Given the description of an element on the screen output the (x, y) to click on. 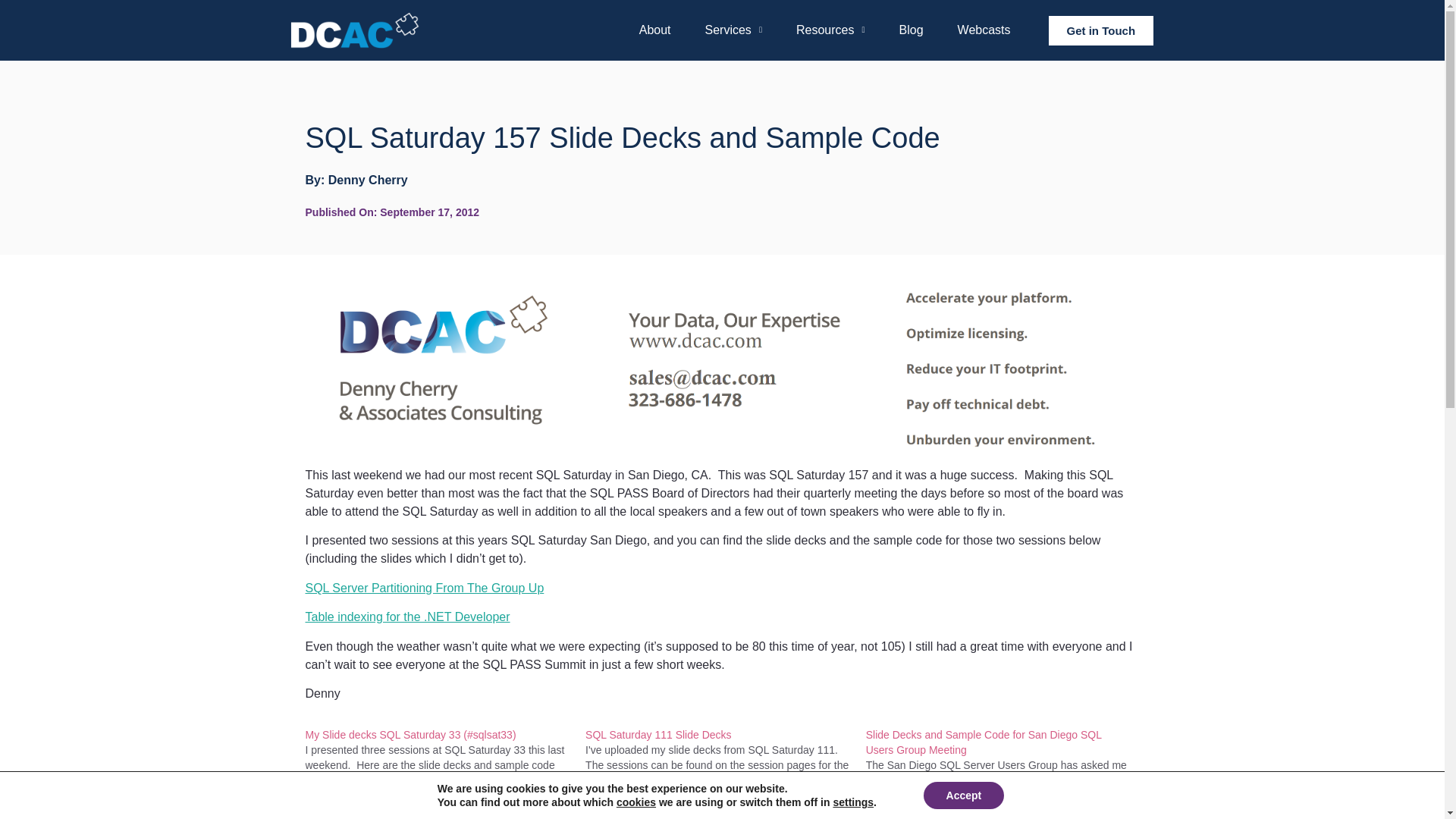
SQL Saturday 111 Slide Decks (657, 734)
SQL Saturday 111 Slide Decks (725, 773)
About (654, 29)
Services (733, 29)
Resources (830, 29)
Blog (911, 29)
Webcasts (983, 29)
